Given the description of an element on the screen output the (x, y) to click on. 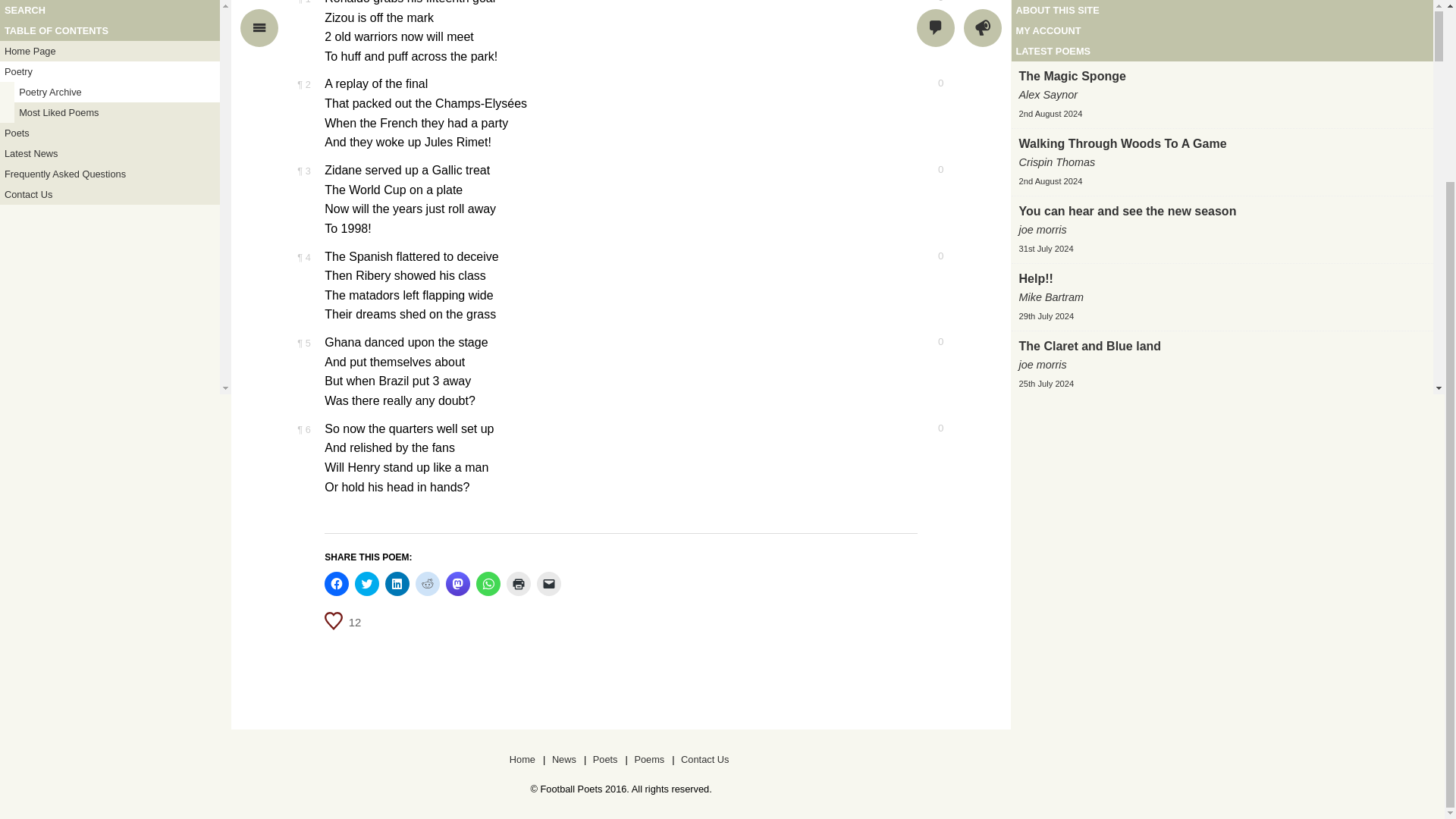
Leave a comment on verse 1 (929, 1)
Leave a comment on verse 5 (929, 341)
Permalink for verse 3 (304, 170)
Permalink for verse 5 (304, 342)
Leave a comment on verse 6 (929, 428)
Permalink for verse 4 (304, 256)
Leave a comment on verse 2 (929, 82)
Leave a comment on verse 3 (929, 169)
Permalink for verse 2 (304, 84)
Leave a comment on verse 4 (929, 255)
Leave a comment on verse 2 (929, 82)
Permalink for verse 1 (304, 2)
Leave a comment on verse 4 (929, 255)
Leave a comment on verse 3 (929, 169)
